Given the description of an element on the screen output the (x, y) to click on. 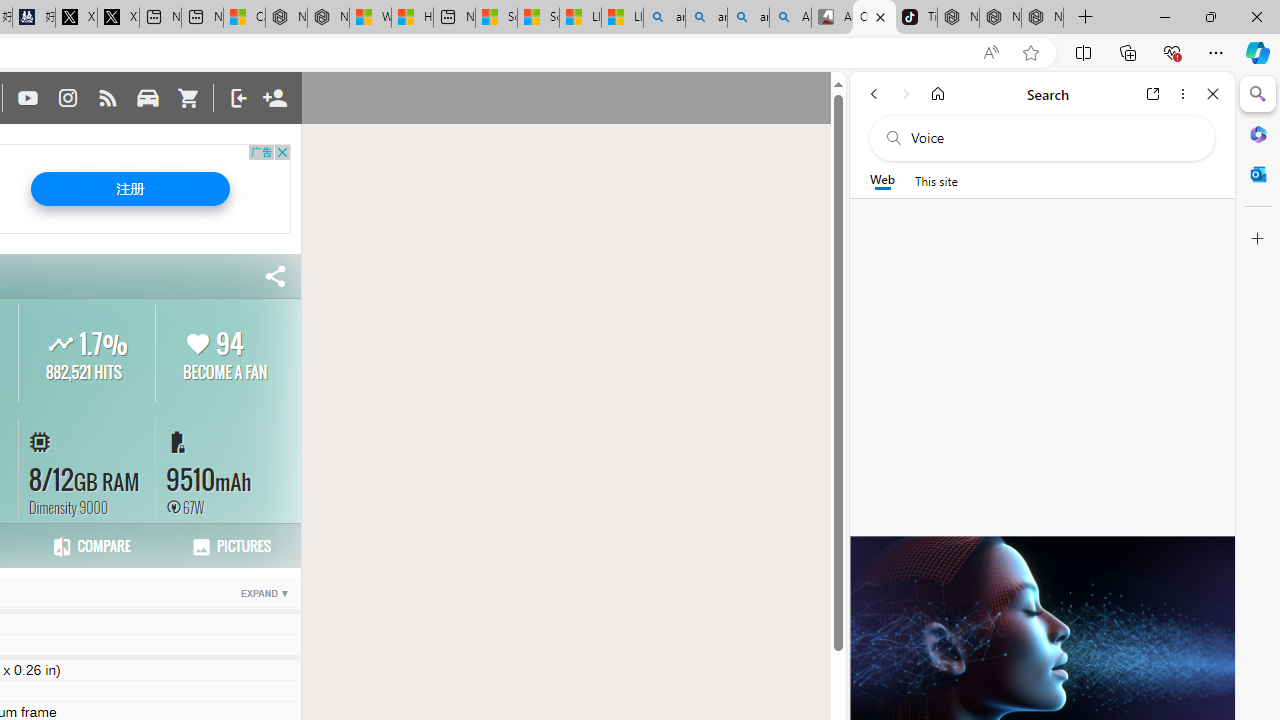
amazon - Search Images (748, 17)
Wildlife - MSN (369, 17)
More options (1182, 93)
Forward (906, 93)
